Given the description of an element on the screen output the (x, y) to click on. 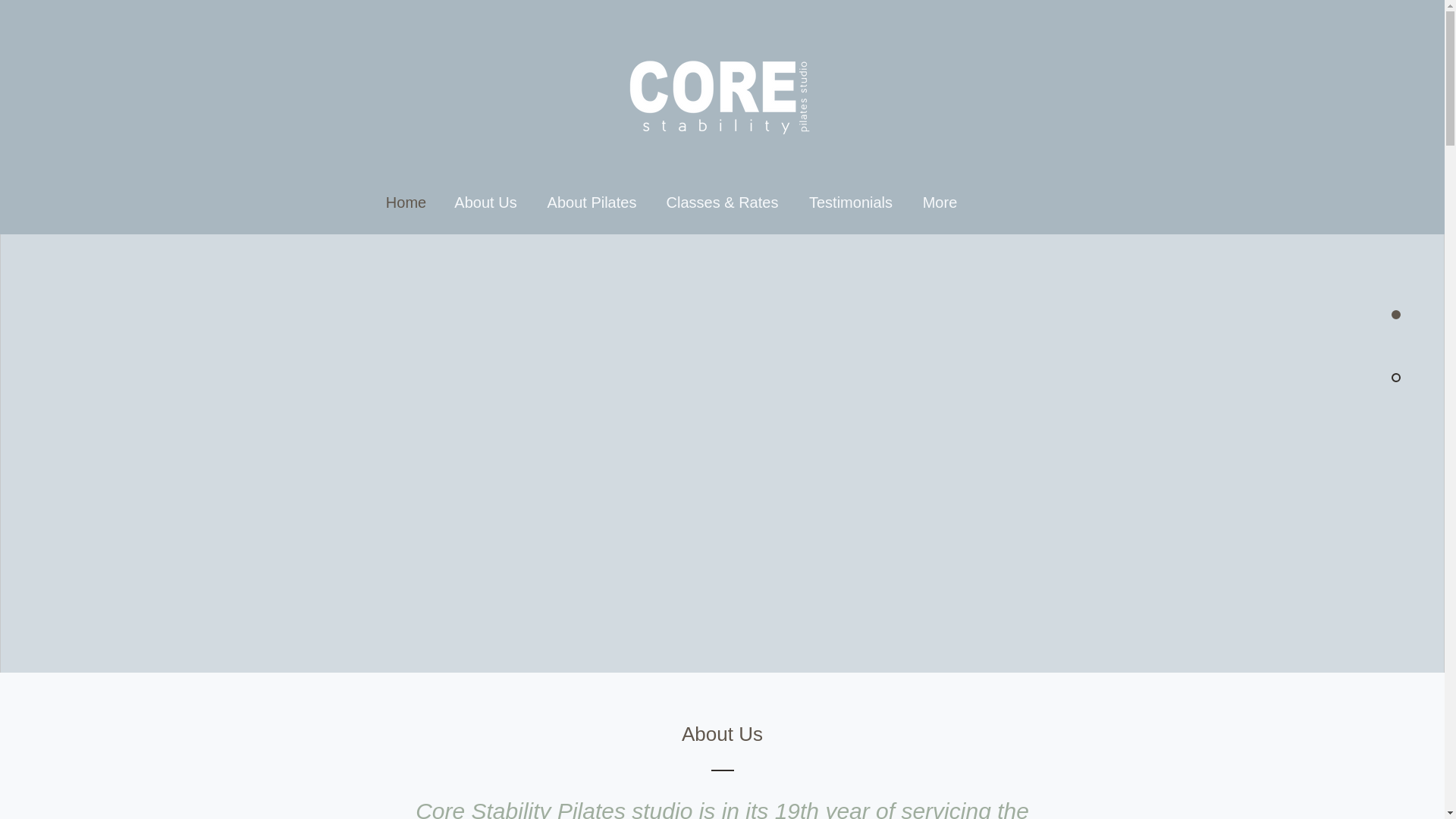
About Us (485, 199)
Testimonials (850, 199)
Home (405, 199)
About Pilates (591, 199)
